Given the description of an element on the screen output the (x, y) to click on. 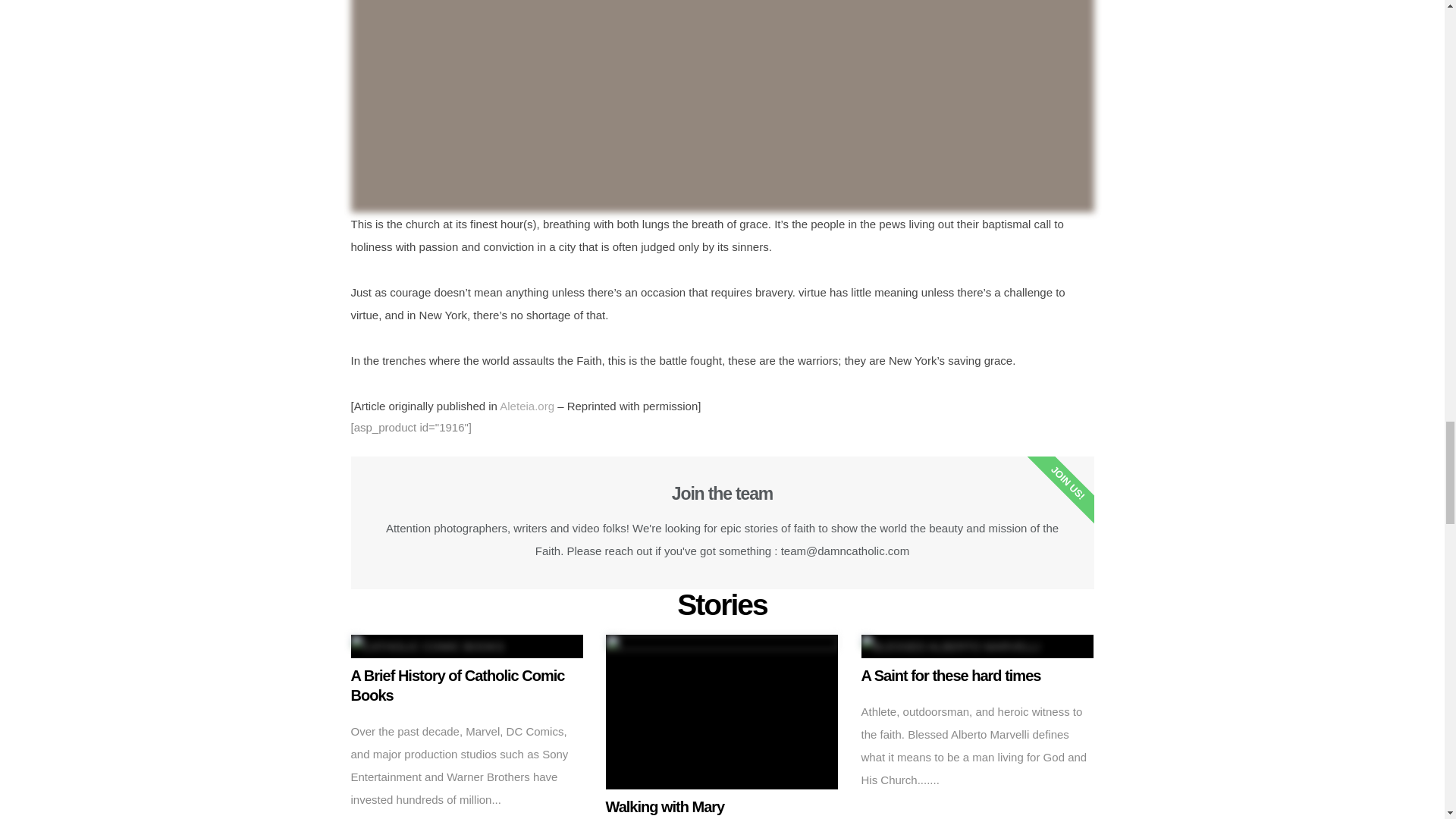
Walking with Mary (721, 806)
Aleteia.org (526, 405)
A Saint for these hard times (977, 675)
A Brief History of Catholic Comic Books (466, 685)
